Given the description of an element on the screen output the (x, y) to click on. 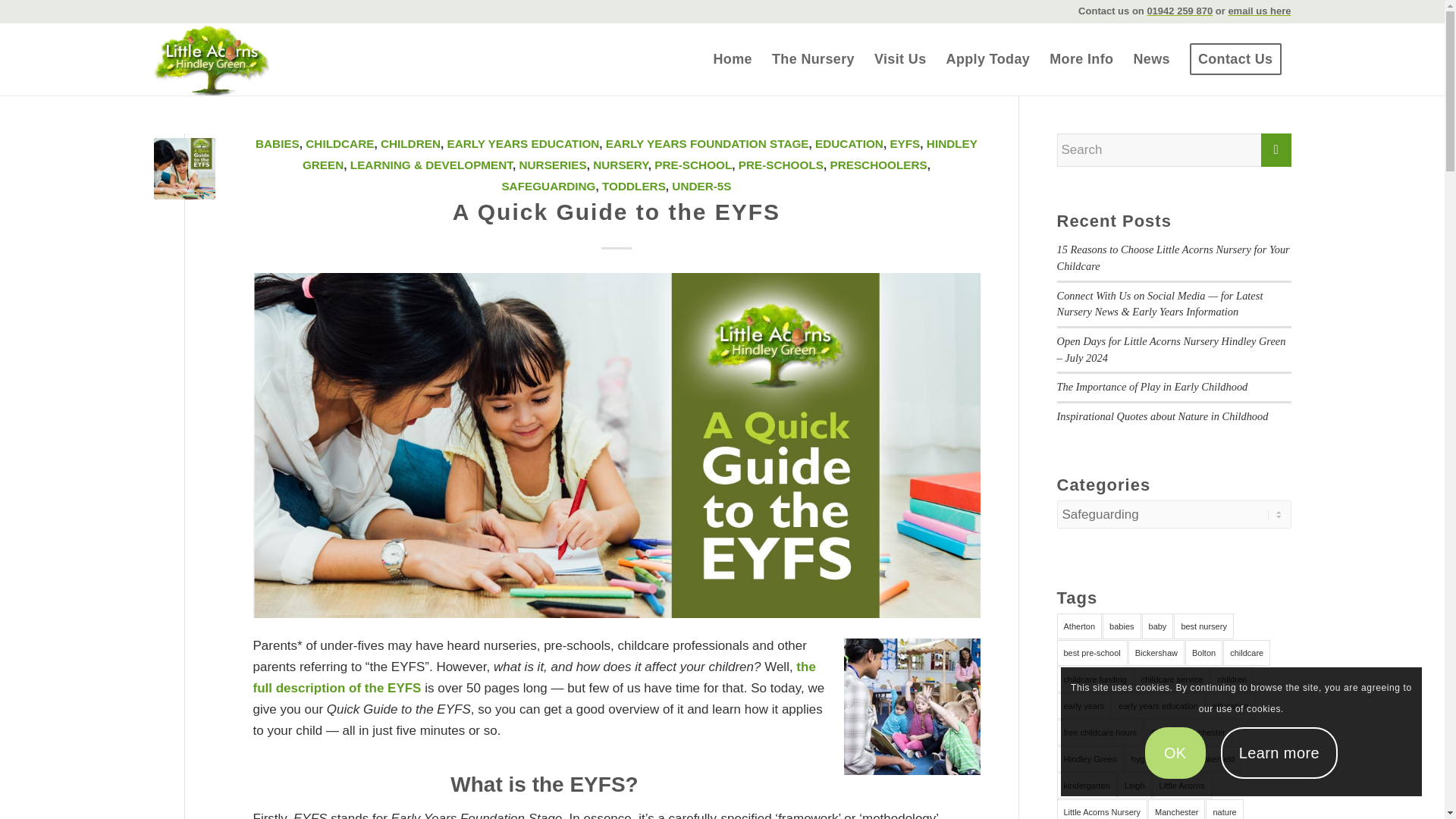
THE NURSERY (812, 59)
01942 259 870 (1179, 10)
EARLY YEARS EDUCATION (522, 143)
INFORMATION FOR PARENTS (1080, 59)
BABIES (277, 143)
EARLY YEARS FOUNDATION STAGE (707, 143)
BOOK A GUIDED TOUR (900, 59)
CHILDREN (410, 143)
EYFS (904, 143)
Visit Us (900, 59)
